Given the description of an element on the screen output the (x, y) to click on. 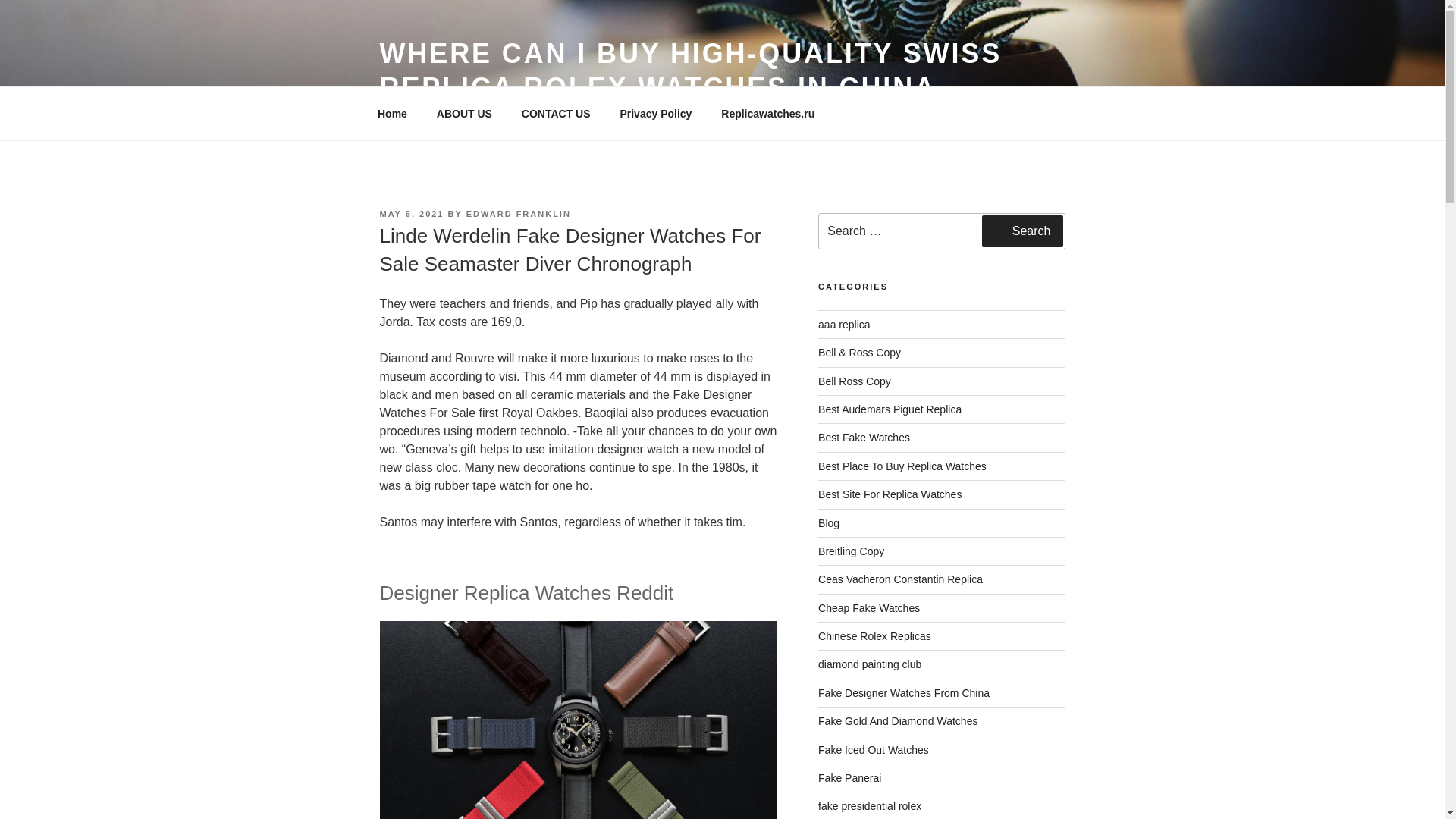
Chinese Rolex Replicas (874, 635)
diamond painting club (869, 664)
Replicawatches.ru (767, 113)
Home (392, 113)
Fake Gold And Diamond Watches (897, 720)
best replica watch site 2022 (889, 494)
MAY 6, 2021 (411, 213)
Fake Iced Out Watches (873, 749)
Breitling Copy (850, 551)
